Given the description of an element on the screen output the (x, y) to click on. 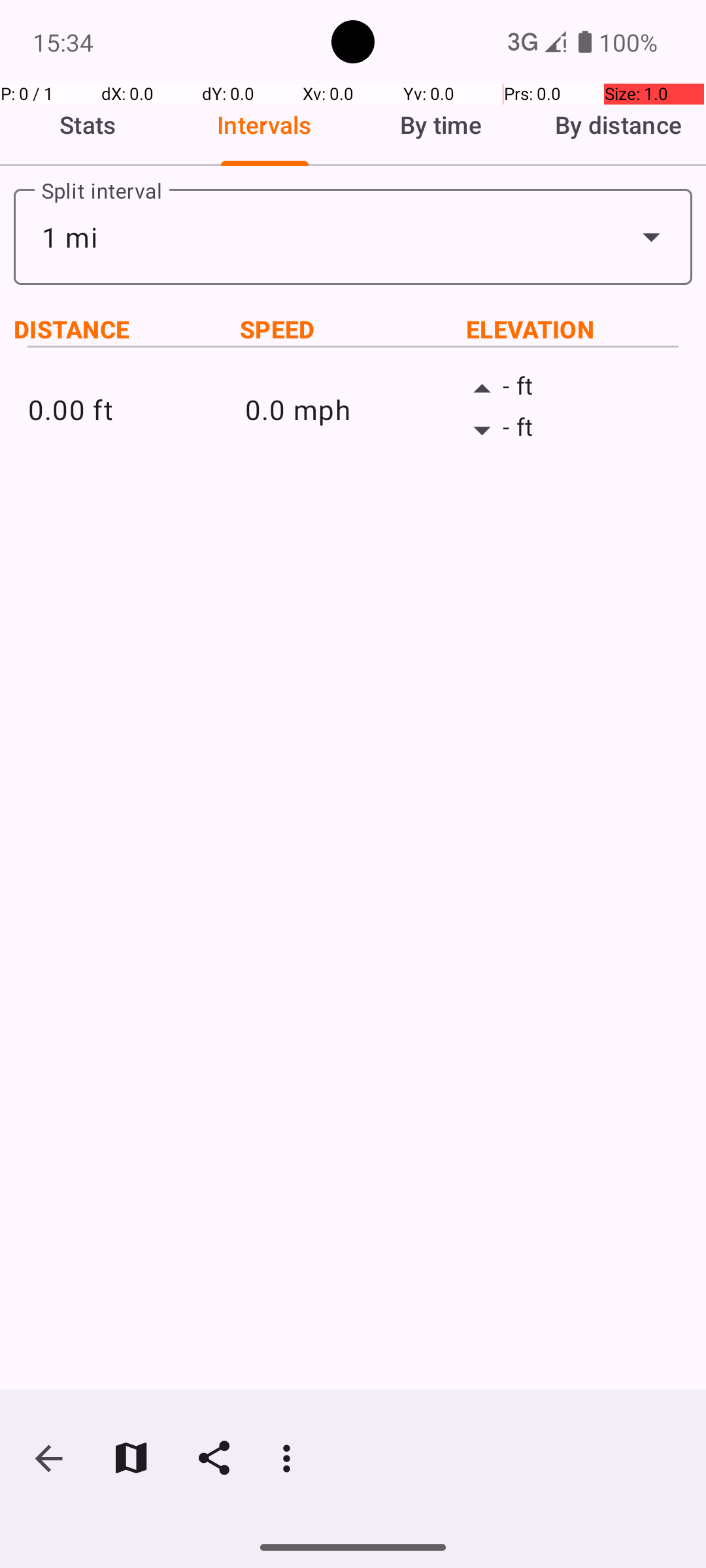
0.00 ft Element type: android.widget.TextView (135, 408)
0.0 mph Element type: android.widget.TextView (352, 408)
- ft Element type: android.widget.TextView (569, 388)
